Given the description of an element on the screen output the (x, y) to click on. 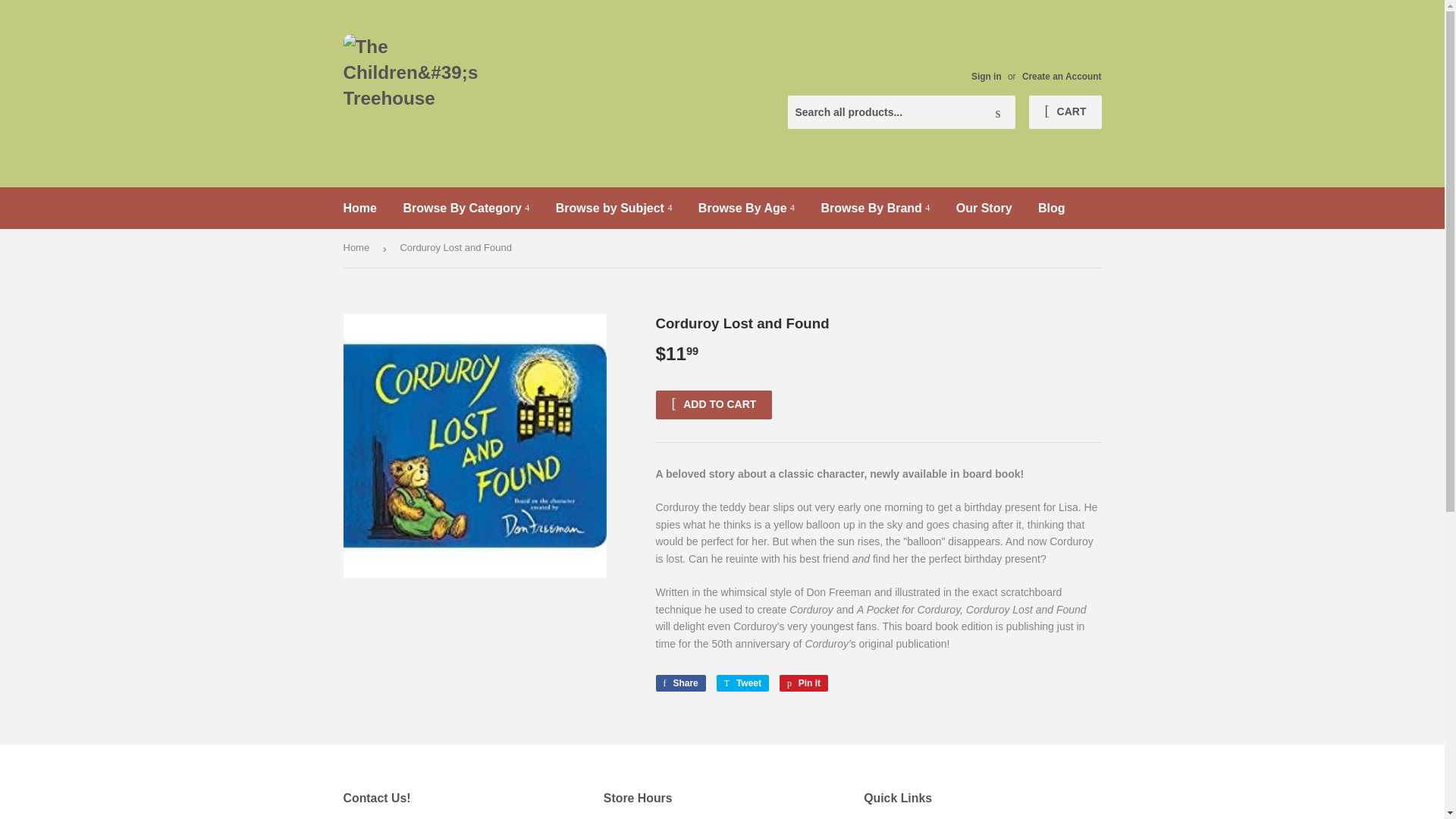
Pin on Pinterest (803, 682)
Share on Facebook (679, 682)
CART (1064, 111)
Create an Account (1062, 76)
Browse by Subject (614, 208)
Browse By Category (465, 208)
Sign in (986, 76)
Home (359, 208)
Search (997, 112)
Tweet on Twitter (742, 682)
